Given the description of an element on the screen output the (x, y) to click on. 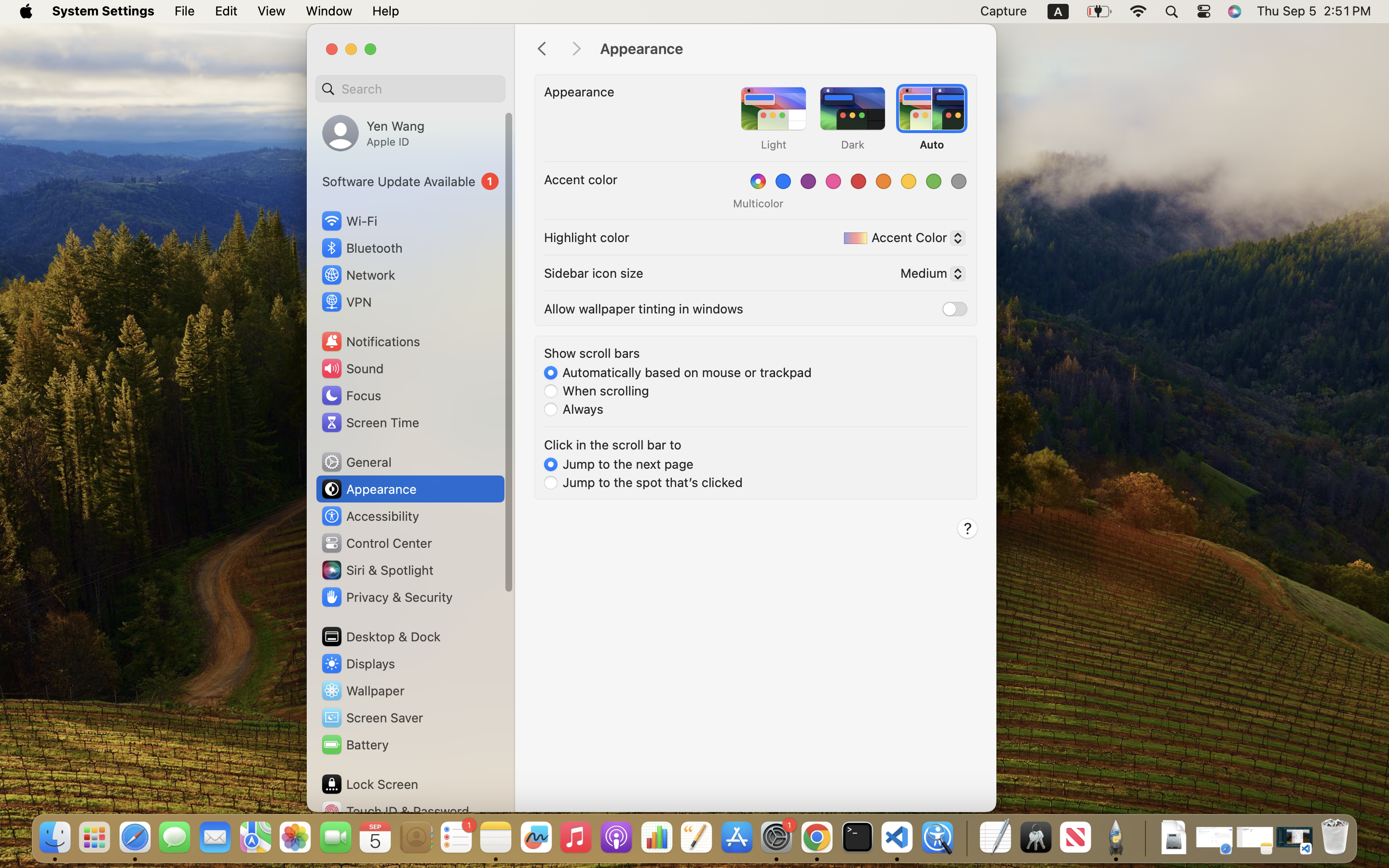
Allow wallpaper tinting in windows Element type: AXStaticText (643, 308)
Wallpaper Element type: AXStaticText (362, 690)
Screen Time Element type: AXStaticText (369, 422)
Siri & Spotlight Element type: AXStaticText (376, 569)
Battery Element type: AXStaticText (354, 744)
